Given the description of an element on the screen output the (x, y) to click on. 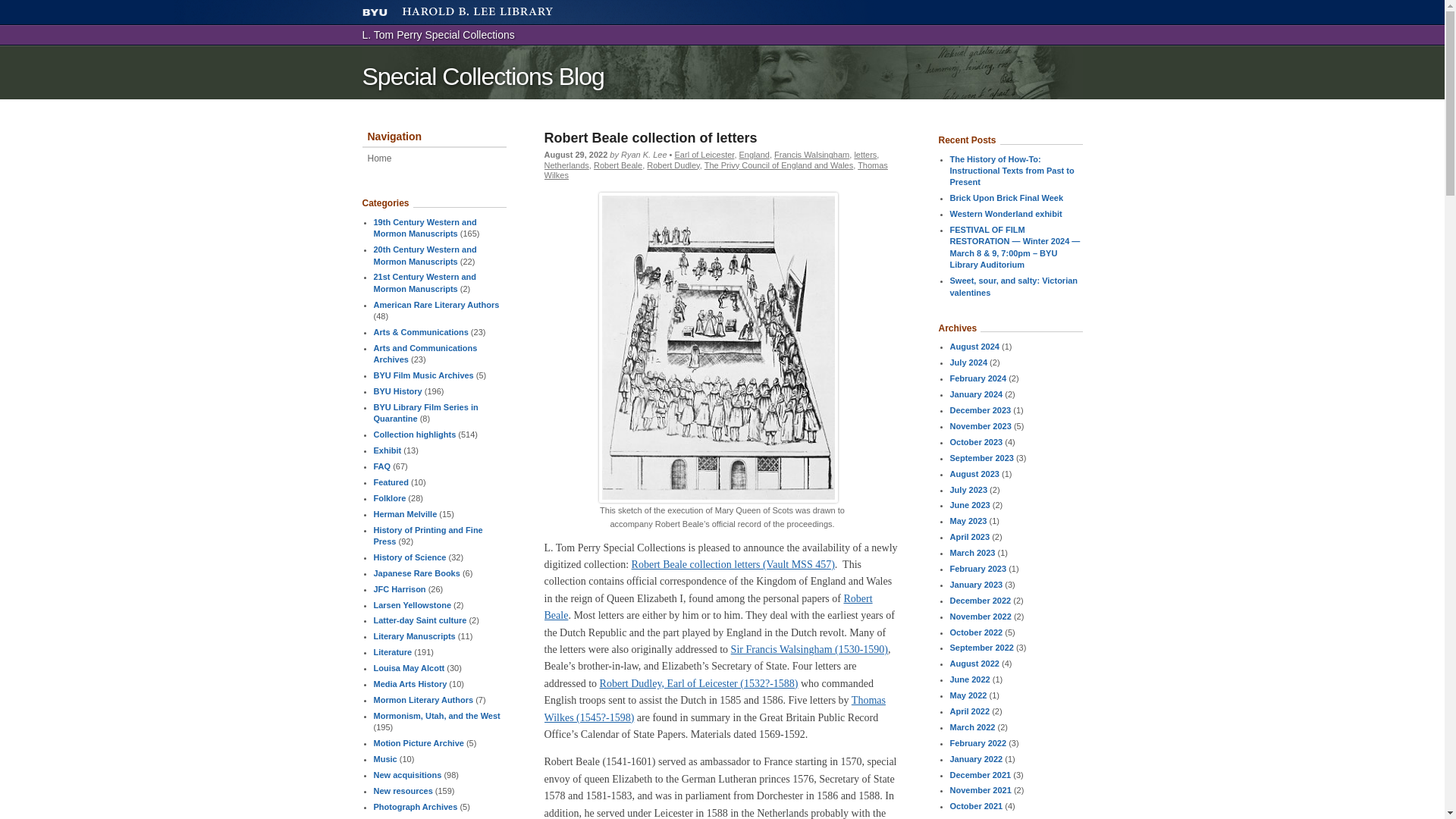
Mormonism, Utah, and the West (435, 715)
BYU Library Film Series in Quarantine (424, 412)
Motion Picture Archive (417, 742)
Special Collections Blog (483, 76)
Literature (392, 651)
JFC Harrison (398, 588)
L. Tom Perry Special Collections (438, 34)
20th Century Western and Mormon Manuscripts (424, 254)
Japanese Rare Books (416, 573)
History of Printing and Fine Press (426, 535)
Folklore (389, 497)
Harold B. Lee Library (477, 12)
Larsen Yellowstone (411, 604)
Exhibit (386, 450)
History of Science (408, 556)
